Given the description of an element on the screen output the (x, y) to click on. 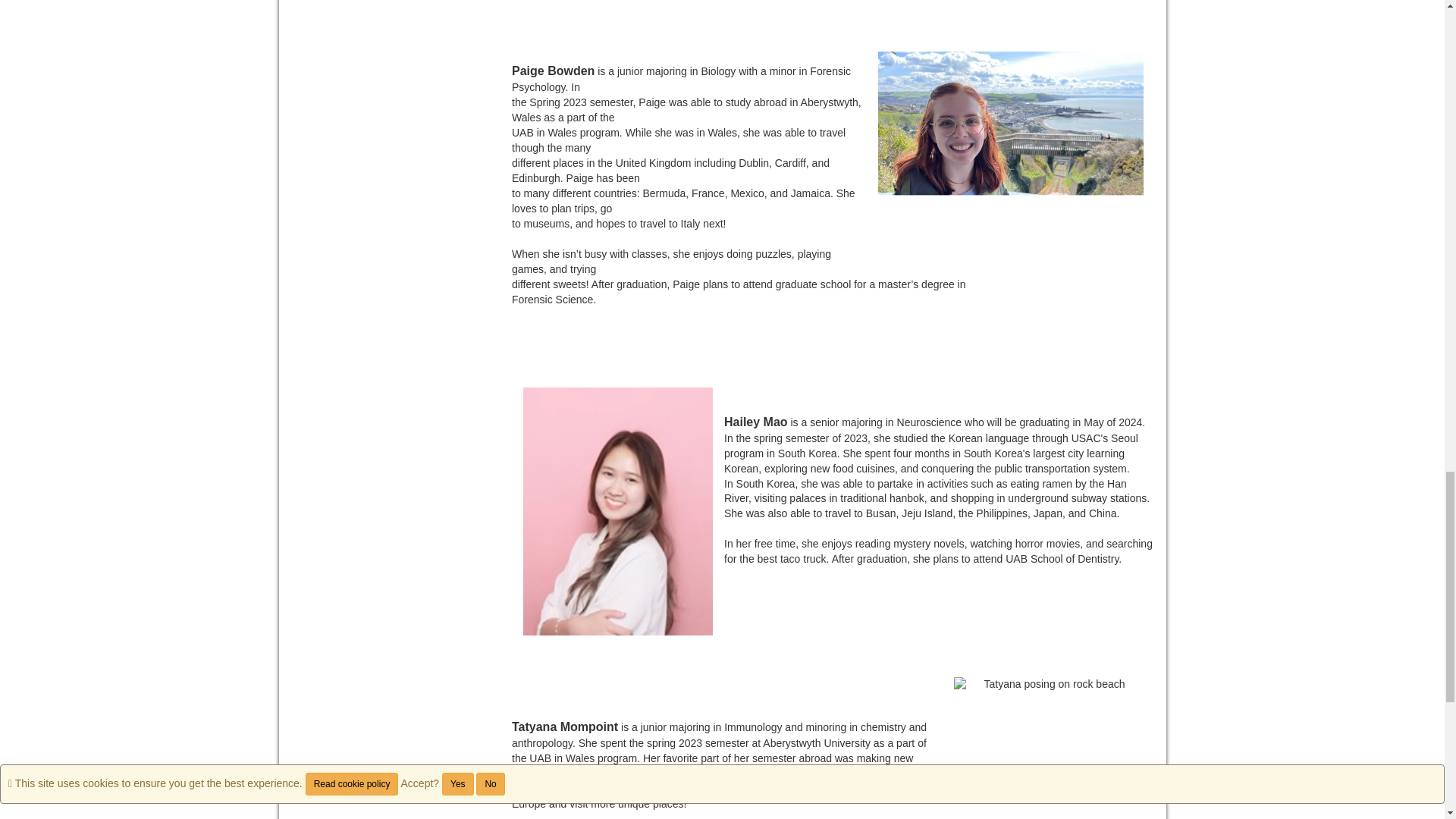
Tatyana posing on rock beach (1047, 748)
Paige on bridge (1009, 150)
